Given the description of an element on the screen output the (x, y) to click on. 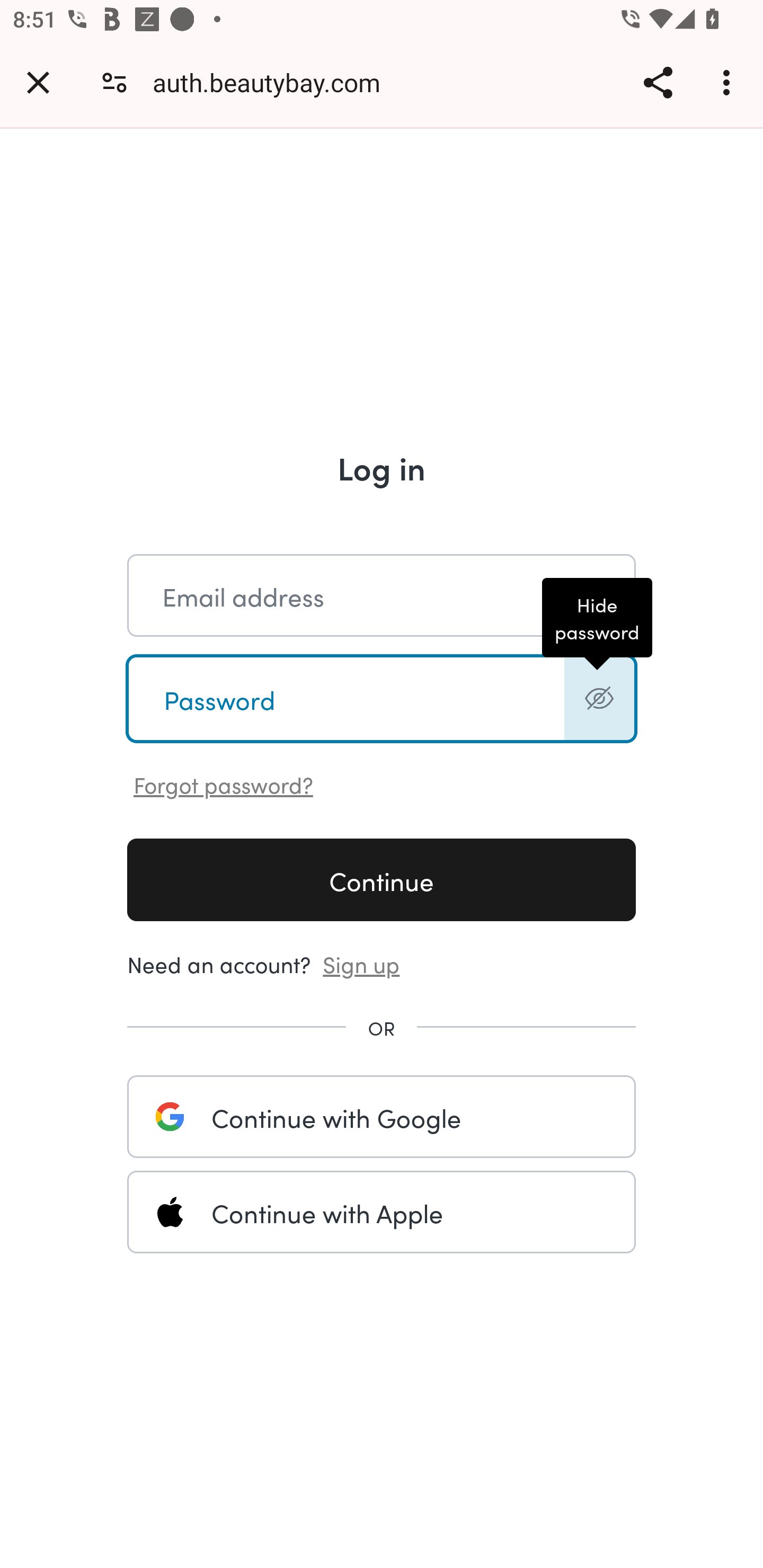
Close tab (38, 82)
Share (657, 82)
Customize and control Google Chrome (729, 82)
Connection is secure (114, 81)
auth.beautybay.com (272, 81)
Hide password (599, 698)
Forgot password? (223, 782)
Continue (381, 879)
Sign up (361, 962)
Continue with Google (381, 1116)
Continue with Apple (381, 1211)
